Given the description of an element on the screen output the (x, y) to click on. 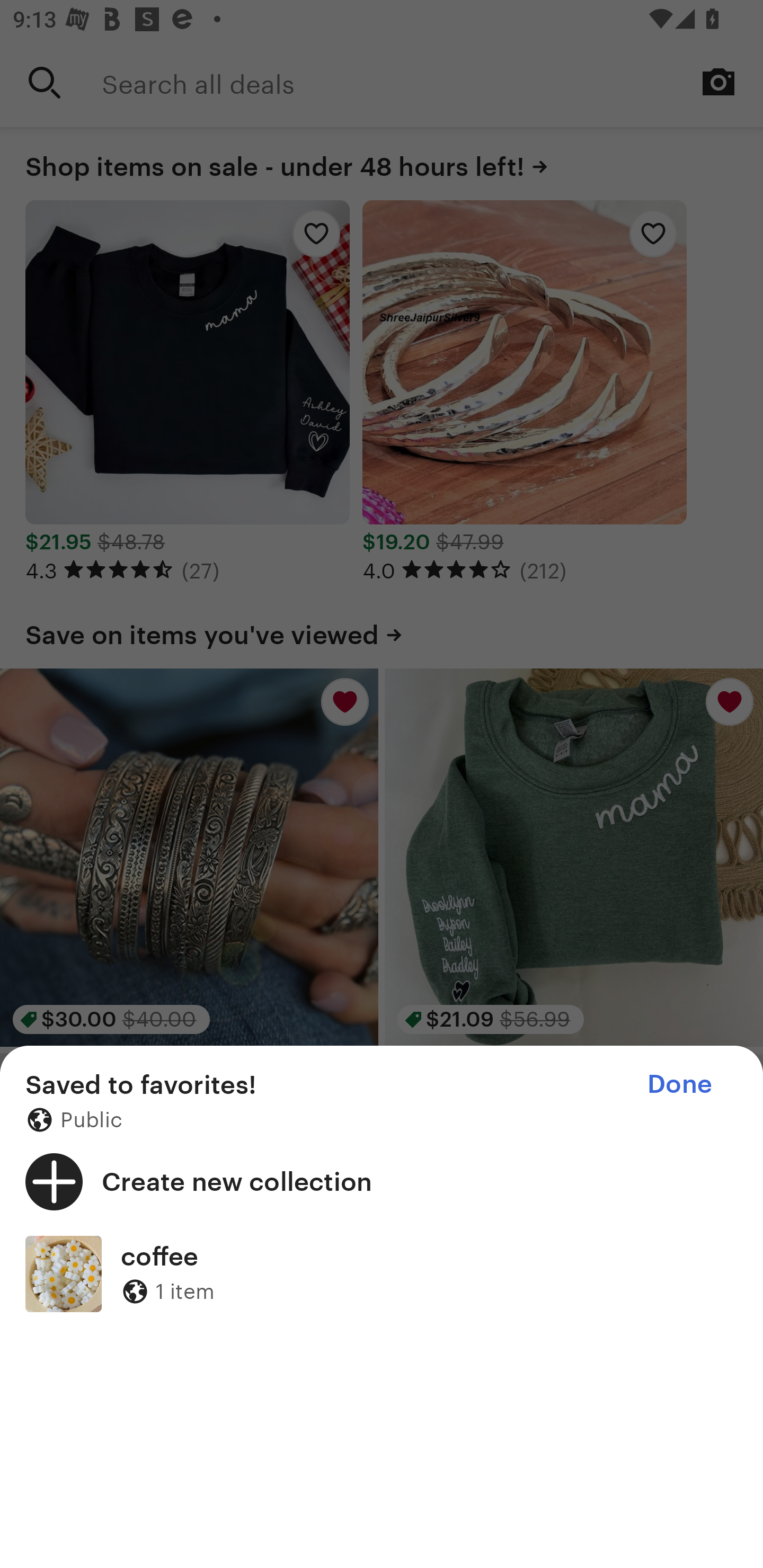
Done (679, 1083)
Create new collection (381, 1181)
coffee 1 item (381, 1273)
